Given the description of an element on the screen output the (x, y) to click on. 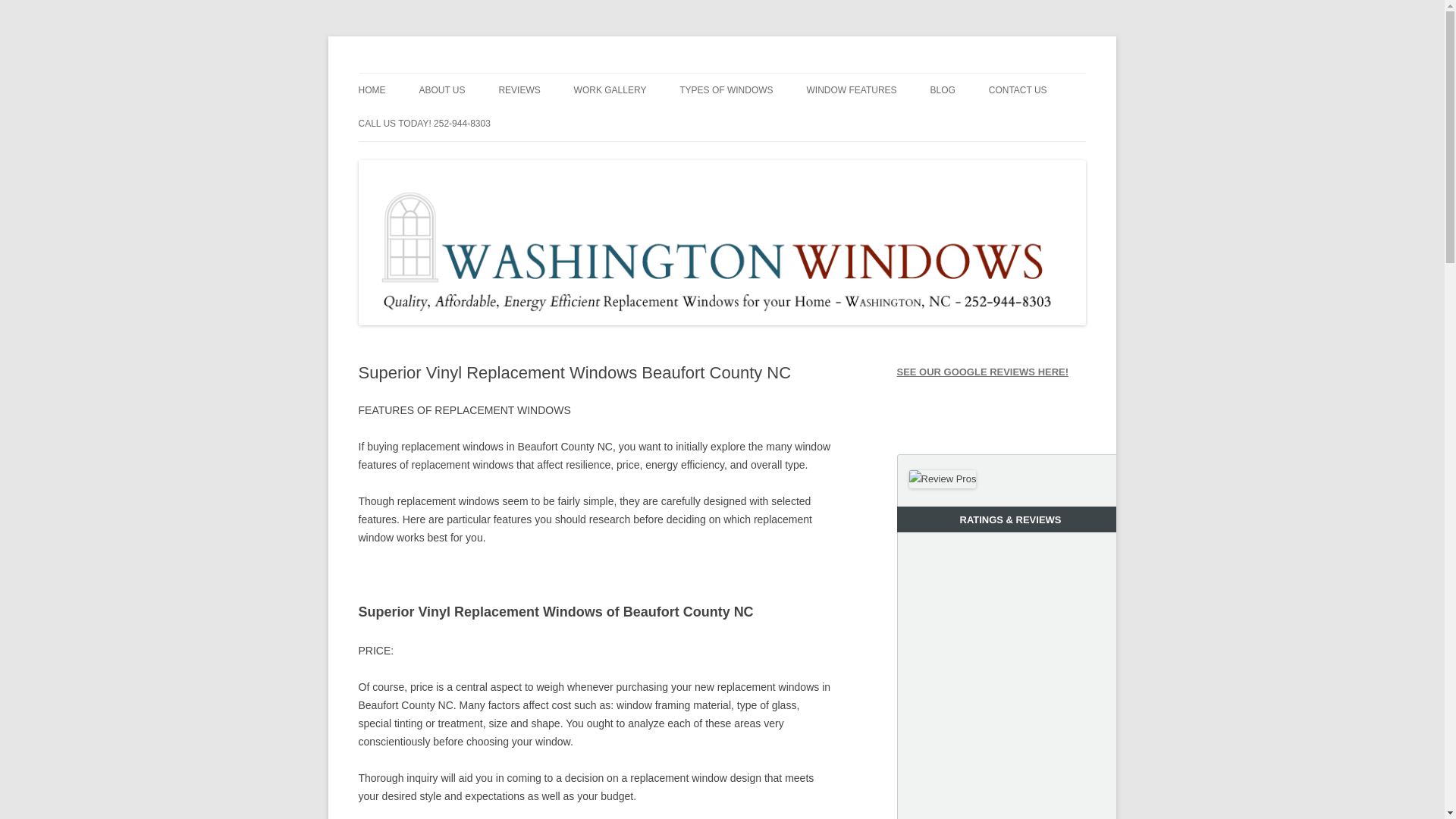
WINDOW FEATURES (851, 90)
REVIEWS (518, 90)
ABOUT US (441, 90)
WORK GALLERY (609, 90)
TYPES OF WINDOWS (726, 90)
CALL US TODAY! 252-944-8303 (423, 123)
SEE OUR GOOGLE REVIEWS HERE! (982, 371)
CONTACT US (1017, 90)
